Given the description of an element on the screen output the (x, y) to click on. 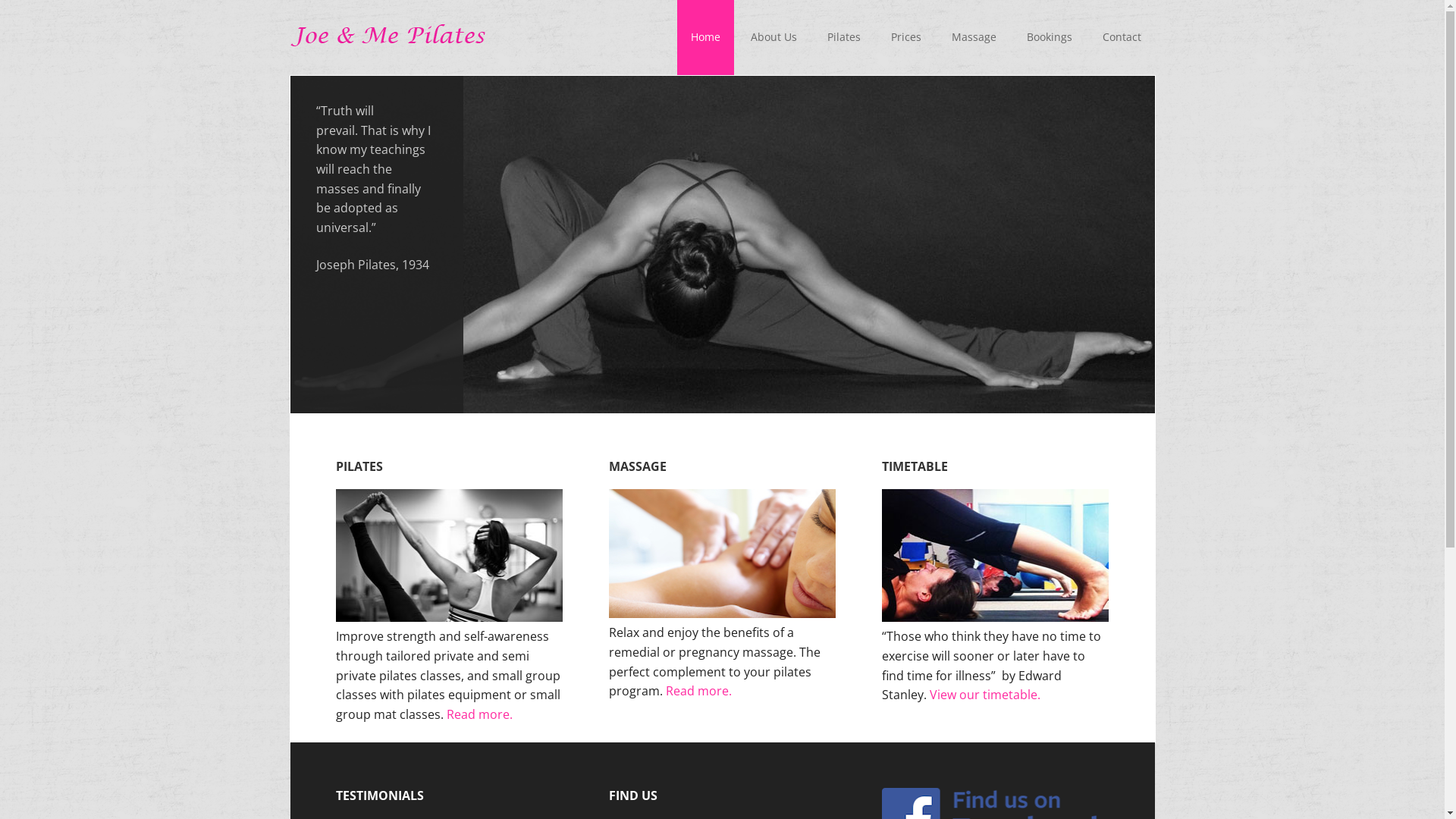
Joe & Me Pilates Element type: text (387, 37)
Prices Element type: text (905, 37)
Read more. Element type: text (479, 714)
Contact Element type: text (1121, 37)
Read more. Element type: text (698, 690)
Massage Element type: text (973, 37)
Bookings Element type: text (1049, 37)
Home Element type: text (704, 37)
View our timetable. Element type: text (984, 694)
Pilates Element type: text (842, 37)
About Us Element type: text (773, 37)
